Given the description of an element on the screen output the (x, y) to click on. 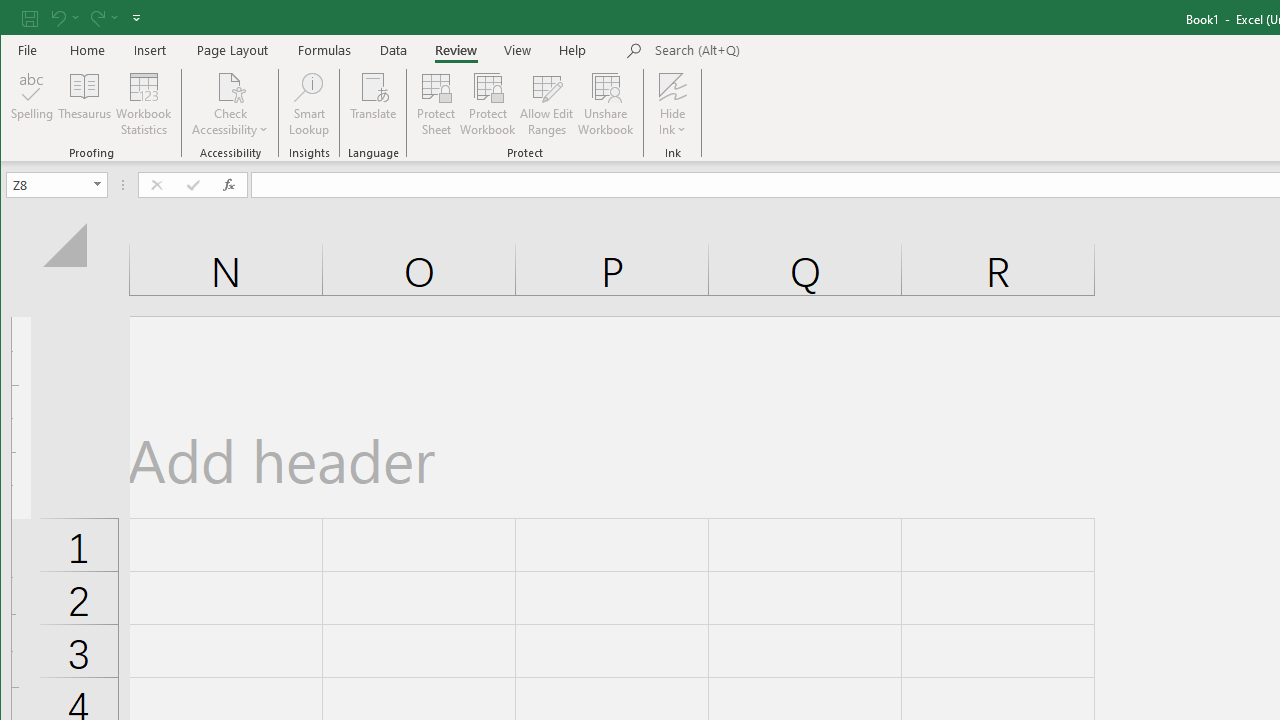
Translate (373, 104)
